Given the description of an element on the screen output the (x, y) to click on. 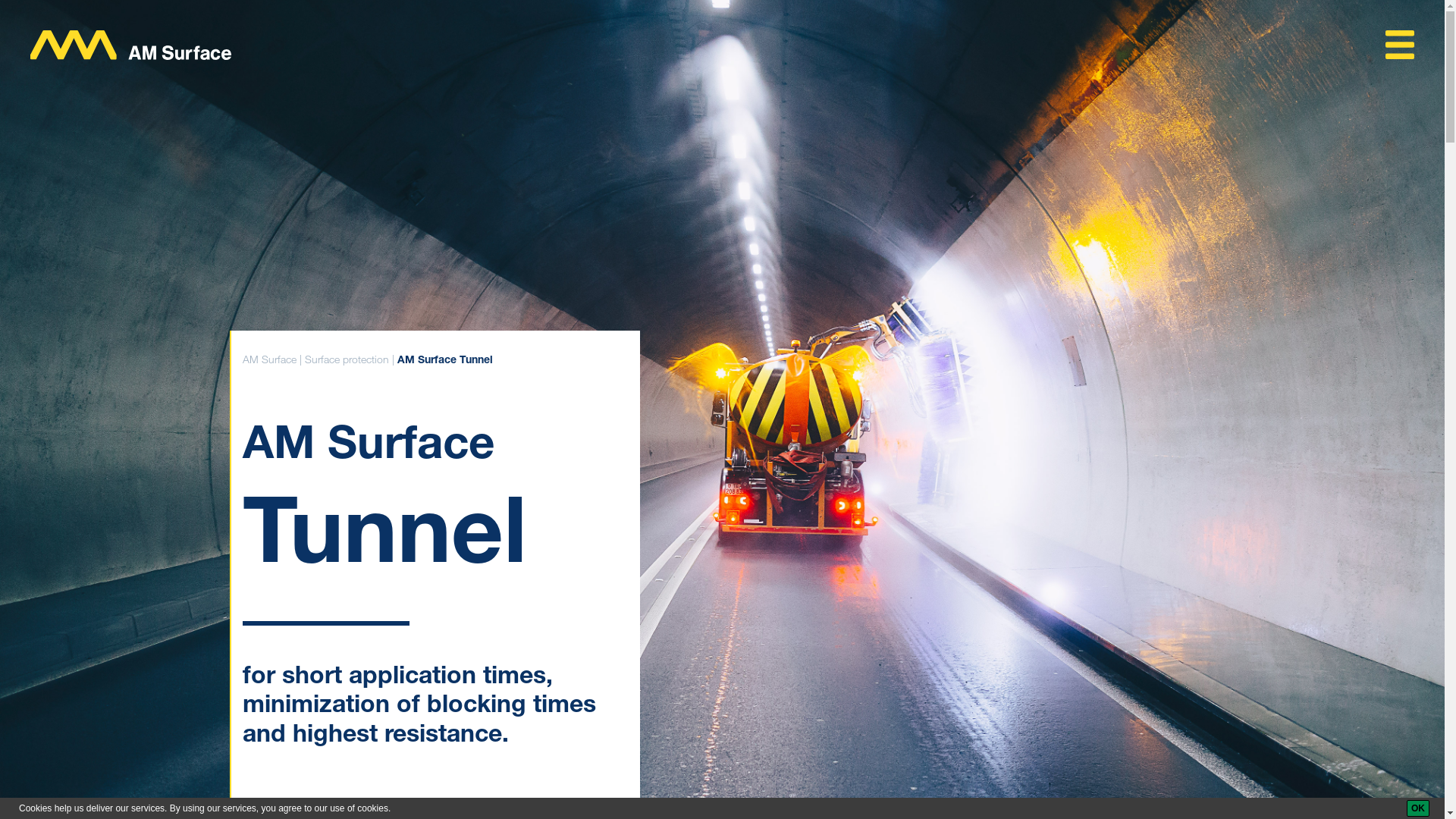
Surface protection | Element type: text (350, 358)
AM Surface | Element type: text (273, 358)
AM Surface Tunnel Element type: text (444, 360)
